Given the description of an element on the screen output the (x, y) to click on. 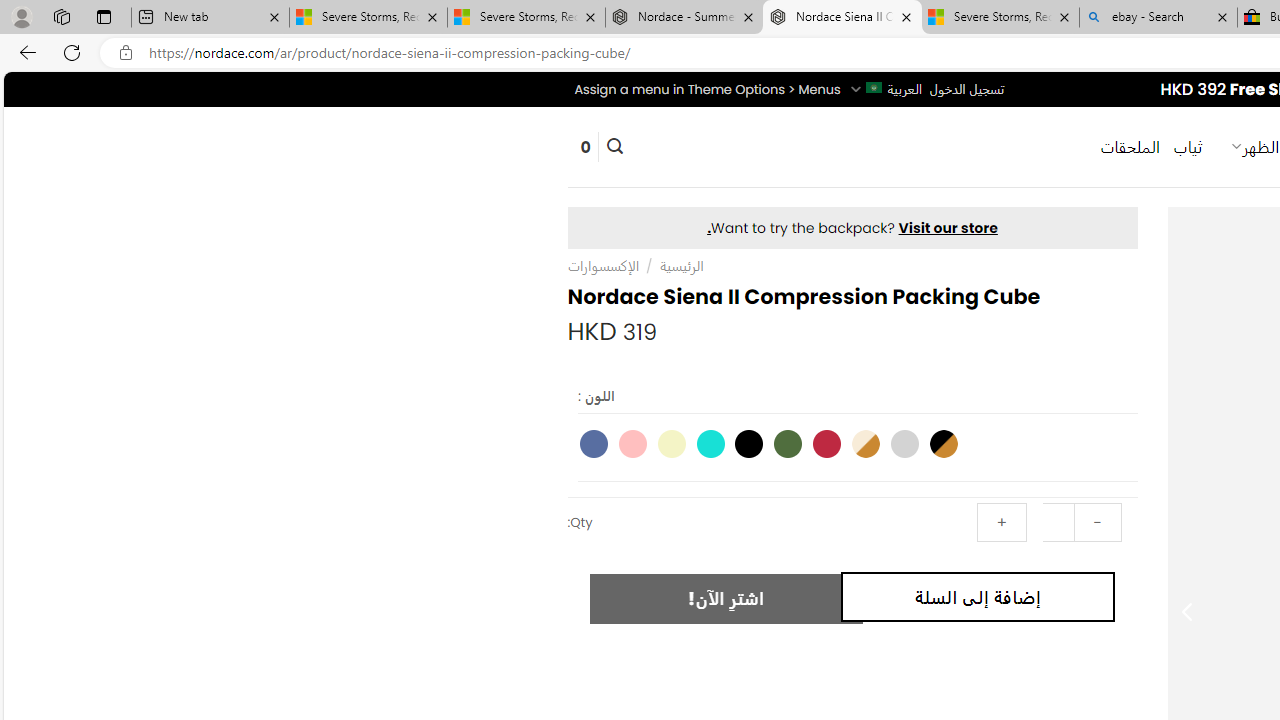
Close tab (1222, 16)
Workspaces (61, 16)
 0 (585, 146)
View site information (125, 53)
Visit our store. (852, 228)
Tab actions menu (104, 16)
Assign a menu in Theme Options > Menus (706, 89)
